Given the description of an element on the screen output the (x, y) to click on. 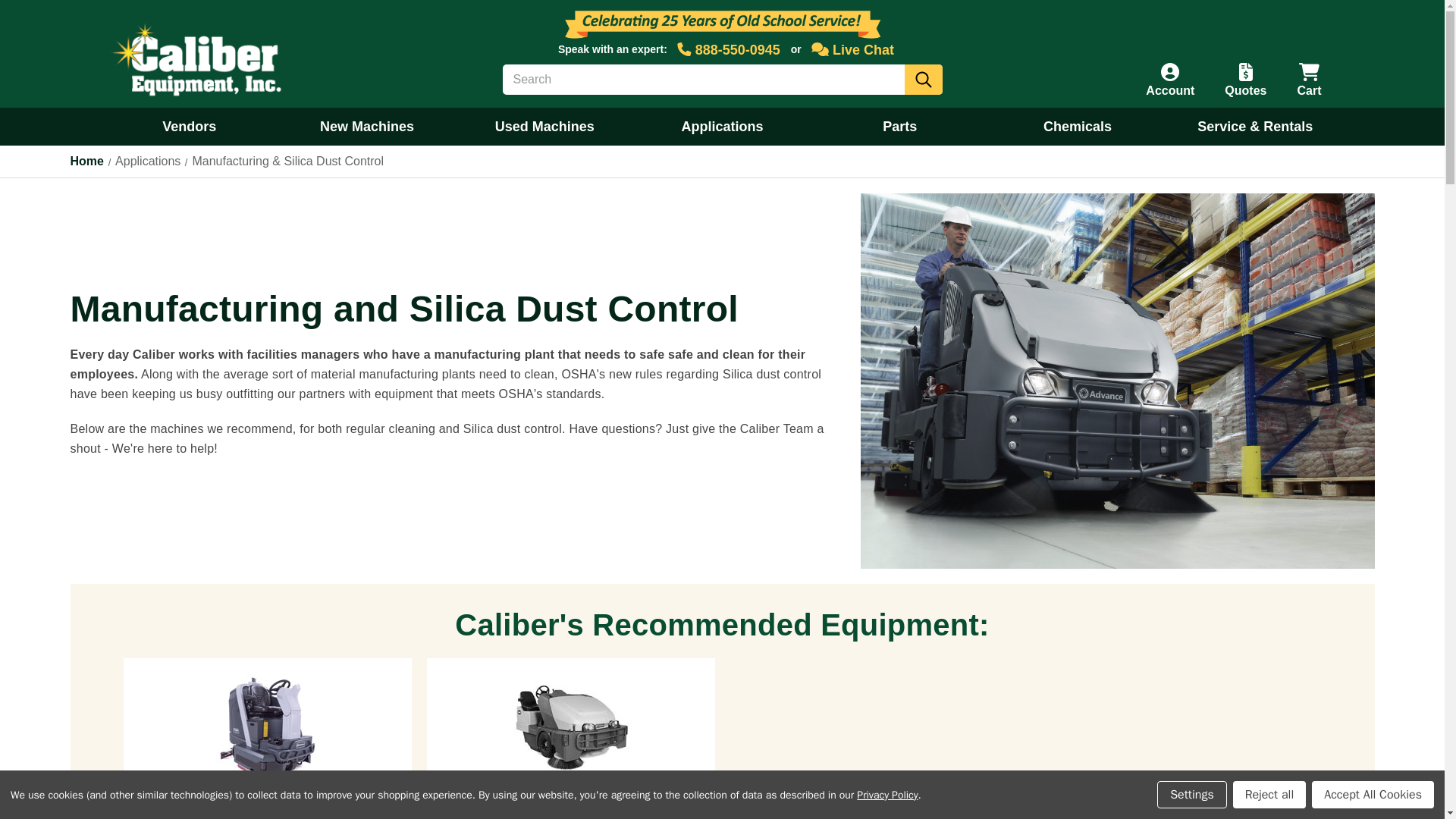
Live Chat (853, 49)
Caliber Equipment, Inc. (199, 60)
Cart (1308, 79)
888-550-0945 (729, 49)
Account (1170, 79)
Quotes (1245, 79)
Vendors (189, 126)
